Given the description of an element on the screen output the (x, y) to click on. 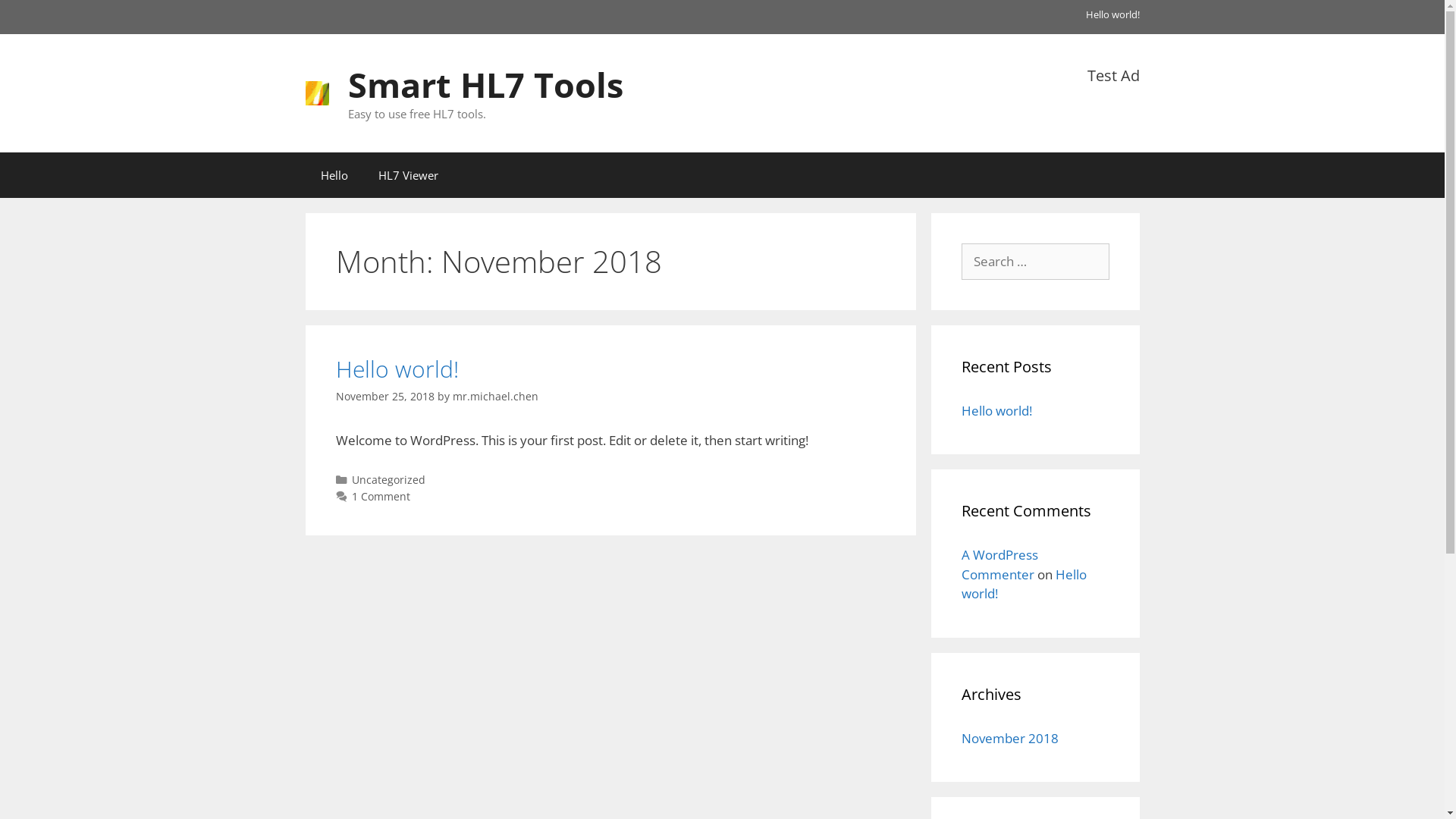
Hello world! Element type: text (396, 368)
Uncategorized Element type: text (388, 479)
Smart HL7 Tools Element type: text (485, 83)
Search Element type: text (36, 18)
1 Comment Element type: text (380, 496)
Hello world! Element type: text (1112, 14)
HL7 Viewer Element type: text (407, 174)
Hello world! Element type: text (1023, 583)
A WordPress Commenter Element type: text (999, 564)
Search for: Element type: hover (1035, 261)
mr.michael.chen Element type: text (494, 396)
Hello world! Element type: text (996, 410)
November 2018 Element type: text (1009, 737)
Hello Element type: text (333, 174)
